Given the description of an element on the screen output the (x, y) to click on. 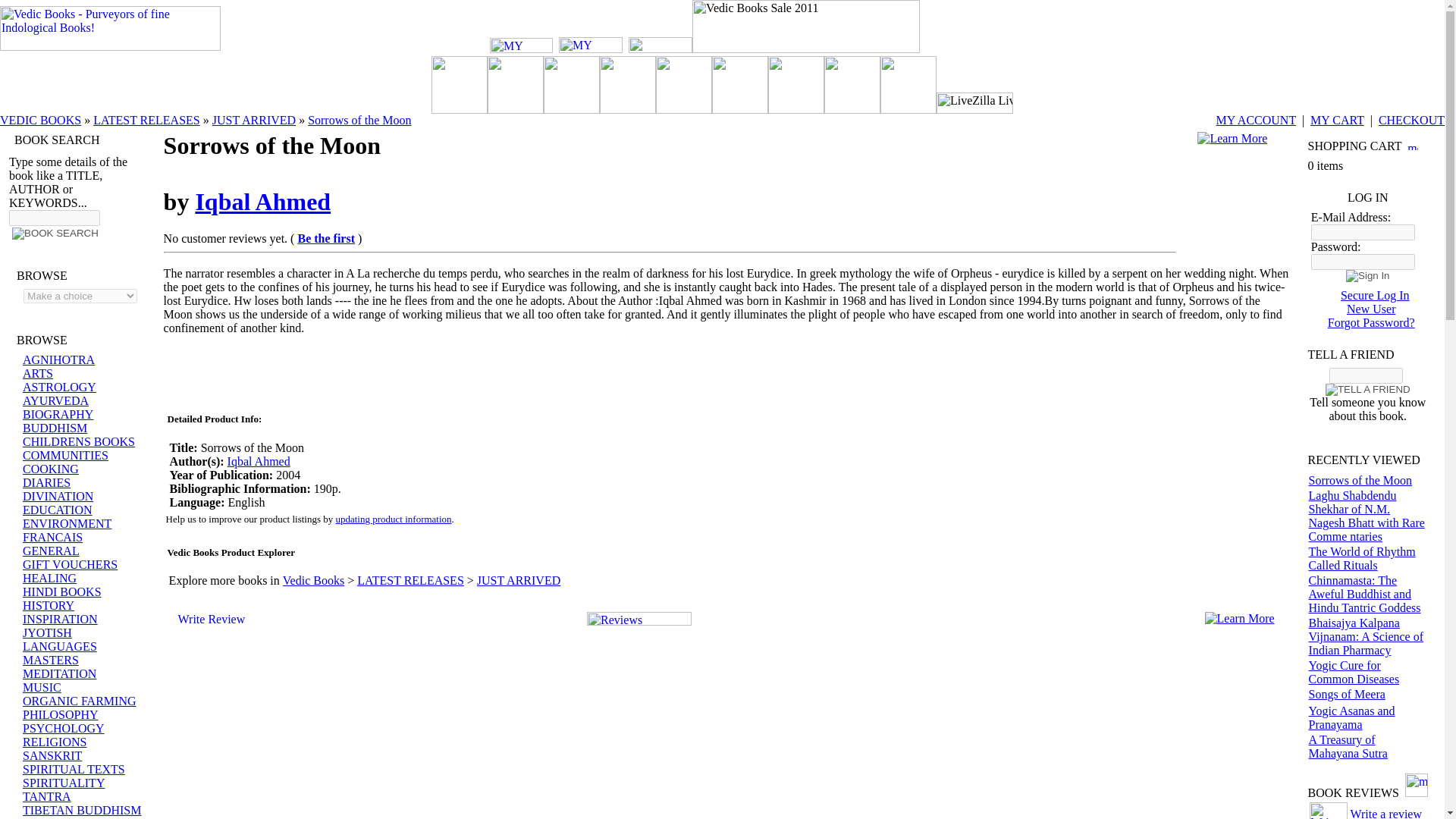
Sorrows of the Moon (358, 119)
VEDIC BOOKS (40, 119)
BUDDHISM (55, 427)
MY ACCOUNT (1255, 119)
 MY ACCOUNT  (521, 45)
BIOGRAPHY (58, 413)
 MY CART  (591, 44)
COOKING (50, 468)
 TELL A FRIEND  (1367, 389)
AGNIHOTRA (58, 359)
DIVINATION (58, 495)
 Sign In  (1367, 275)
GIFT VOUCHERS (70, 563)
LATEST RELEASES (146, 119)
 Write Review  (1328, 810)
